Given the description of an element on the screen output the (x, y) to click on. 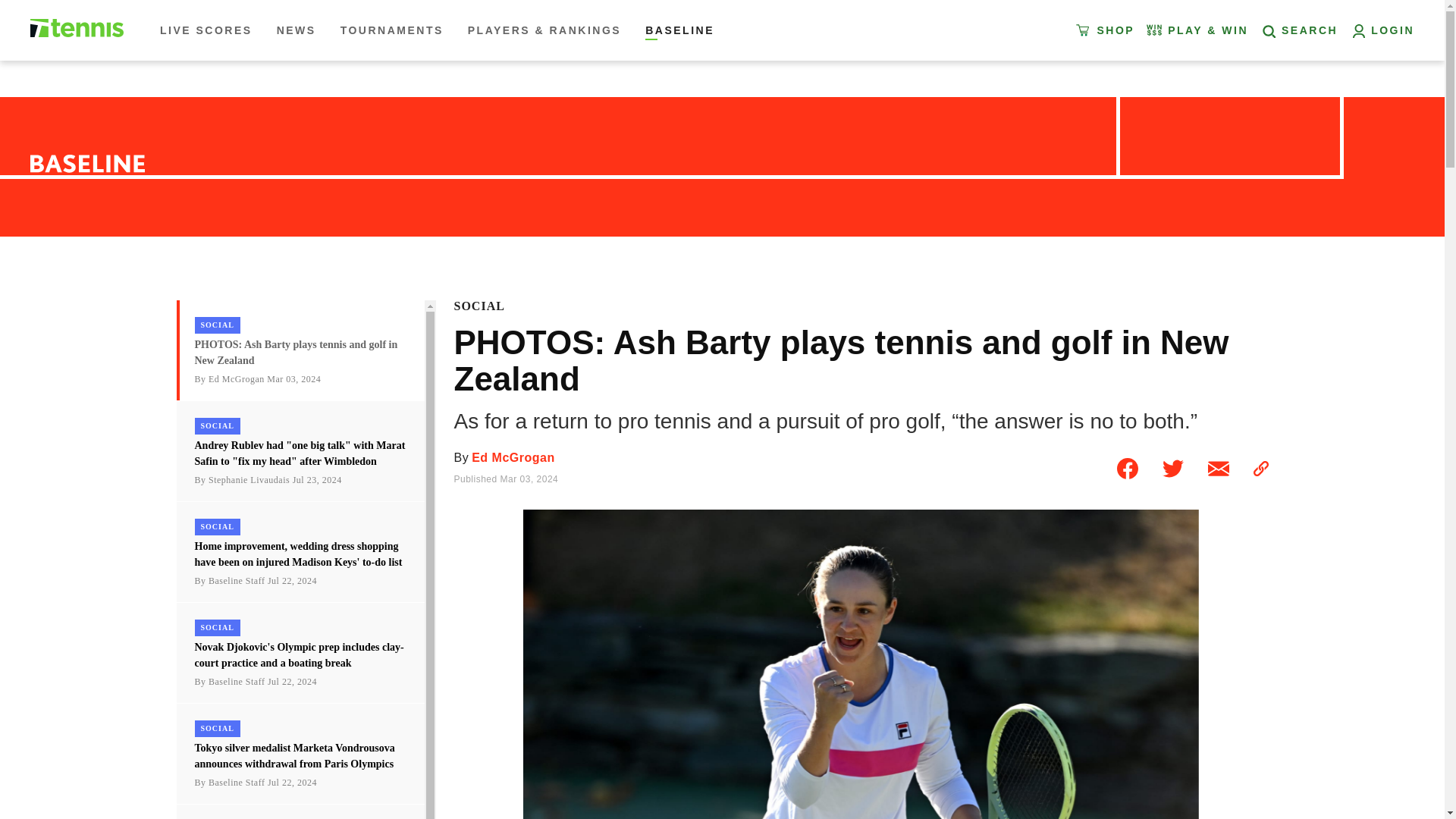
SEARCH (1298, 30)
LIVE SCORES (209, 30)
Ed McGrogan (511, 458)
SHOP (1107, 30)
NEWS (295, 30)
TOURNAMENTS (391, 30)
PHOTOS: Ash Barty plays tennis and golf in New Zealand (1217, 468)
BASELINE (676, 30)
Ed McGrogan (511, 458)
Tennis.com (76, 27)
